Given the description of an element on the screen output the (x, y) to click on. 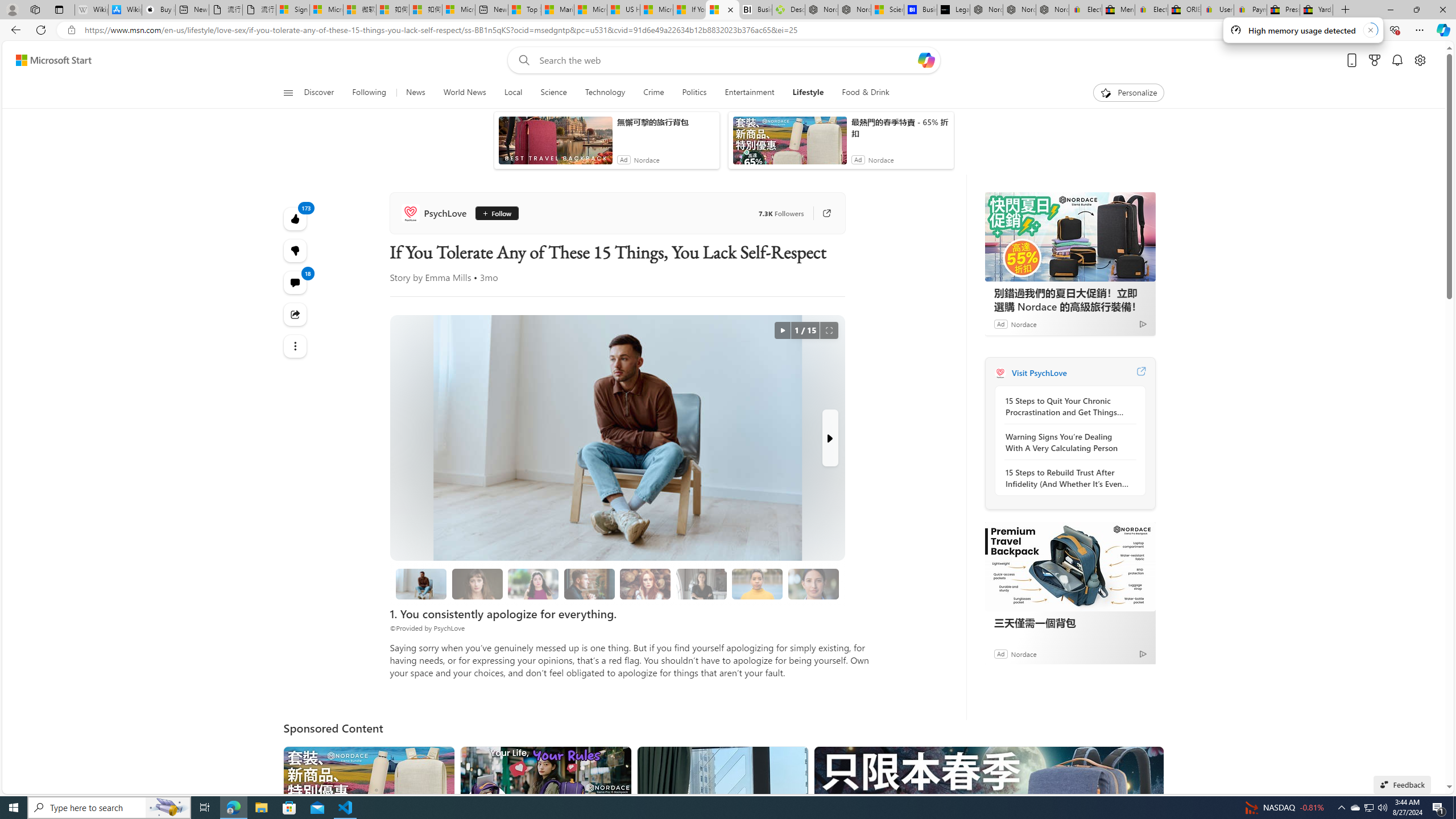
Class: button-glyph (287, 92)
Sign in to your Microsoft account (292, 9)
